Given the description of an element on the screen output the (x, y) to click on. 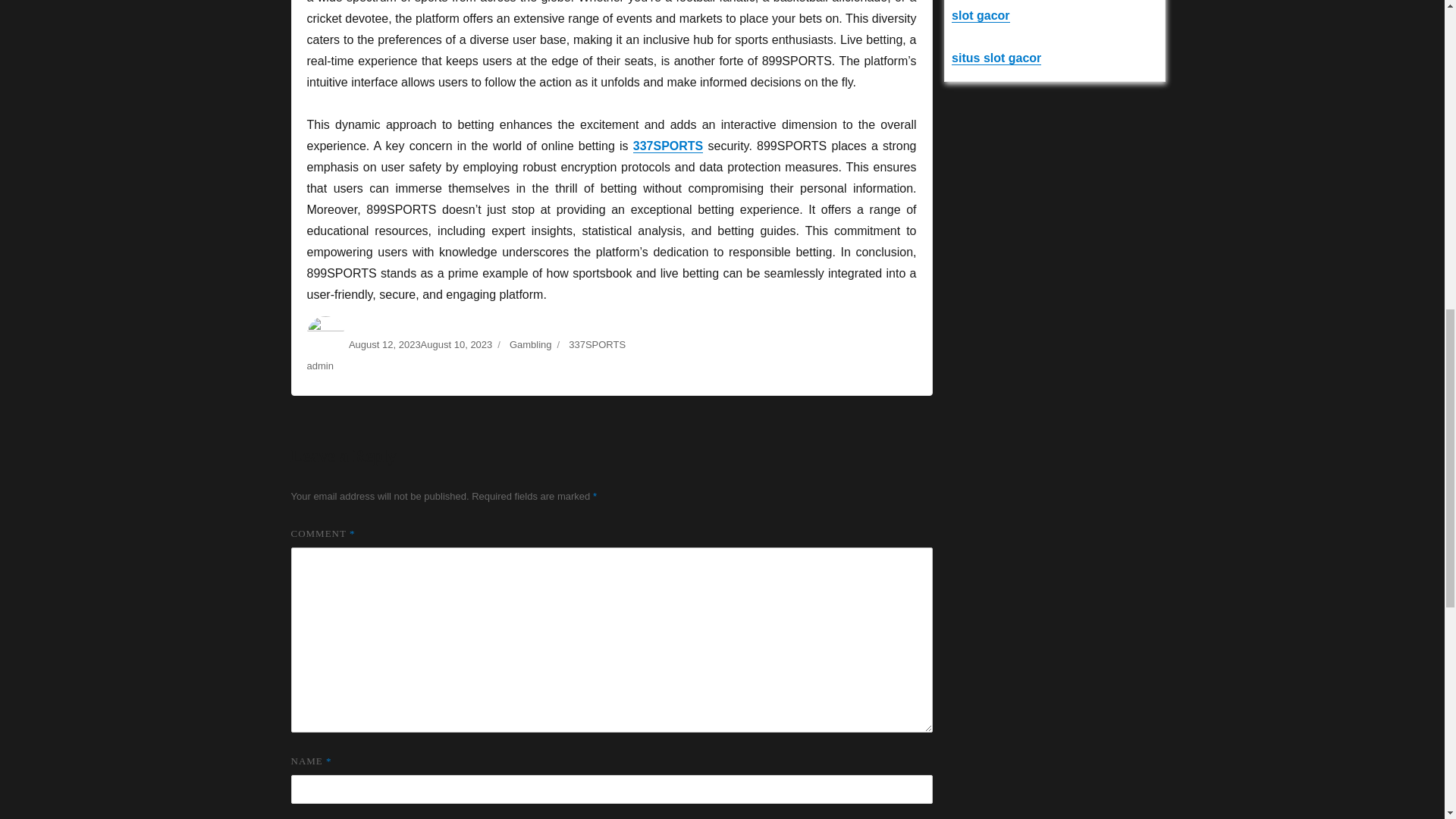
situs slot gacor (996, 57)
August 12, 2023August 10, 2023 (420, 344)
slot gacor (980, 15)
admin (319, 365)
Gambling (530, 344)
337SPORTS (597, 344)
337SPORTS (668, 145)
